Given the description of an element on the screen output the (x, y) to click on. 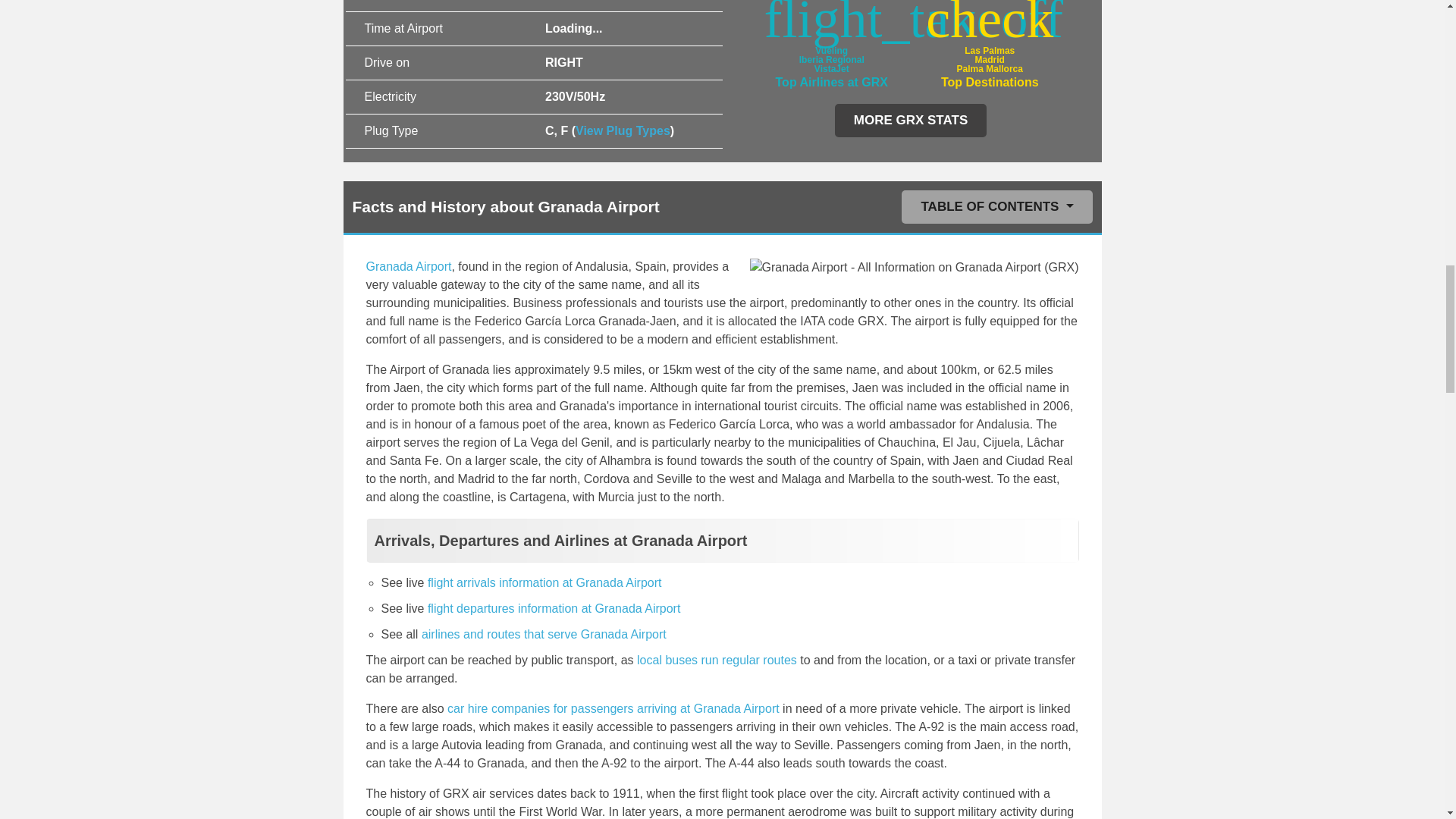
GranadaAirport.com (408, 266)
Car Hire (612, 707)
Airlines (544, 634)
Arrivals (545, 582)
Departures (554, 608)
